Given the description of an element on the screen output the (x, y) to click on. 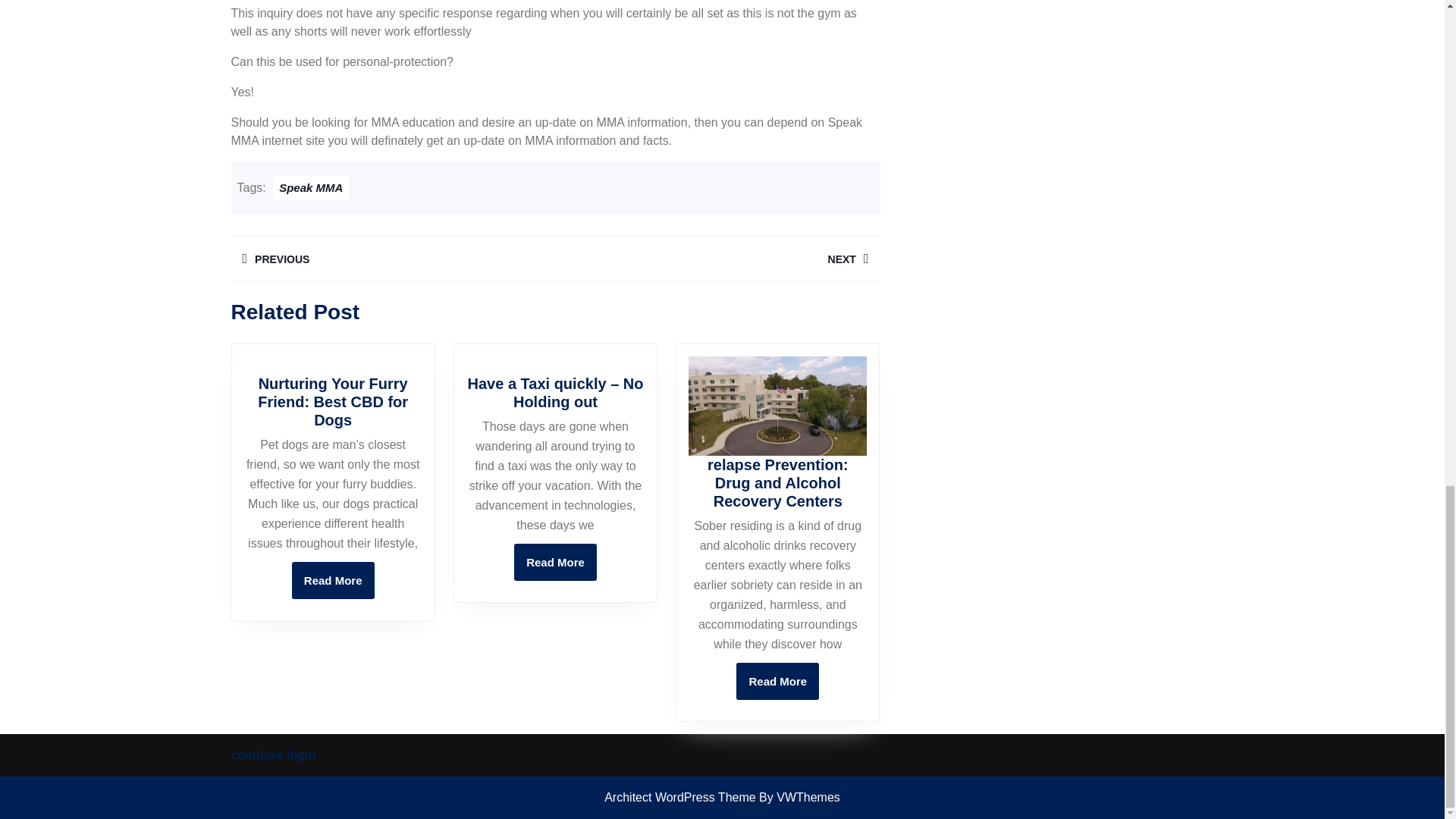
Speak MMA (311, 187)
